Given the description of an element on the screen output the (x, y) to click on. 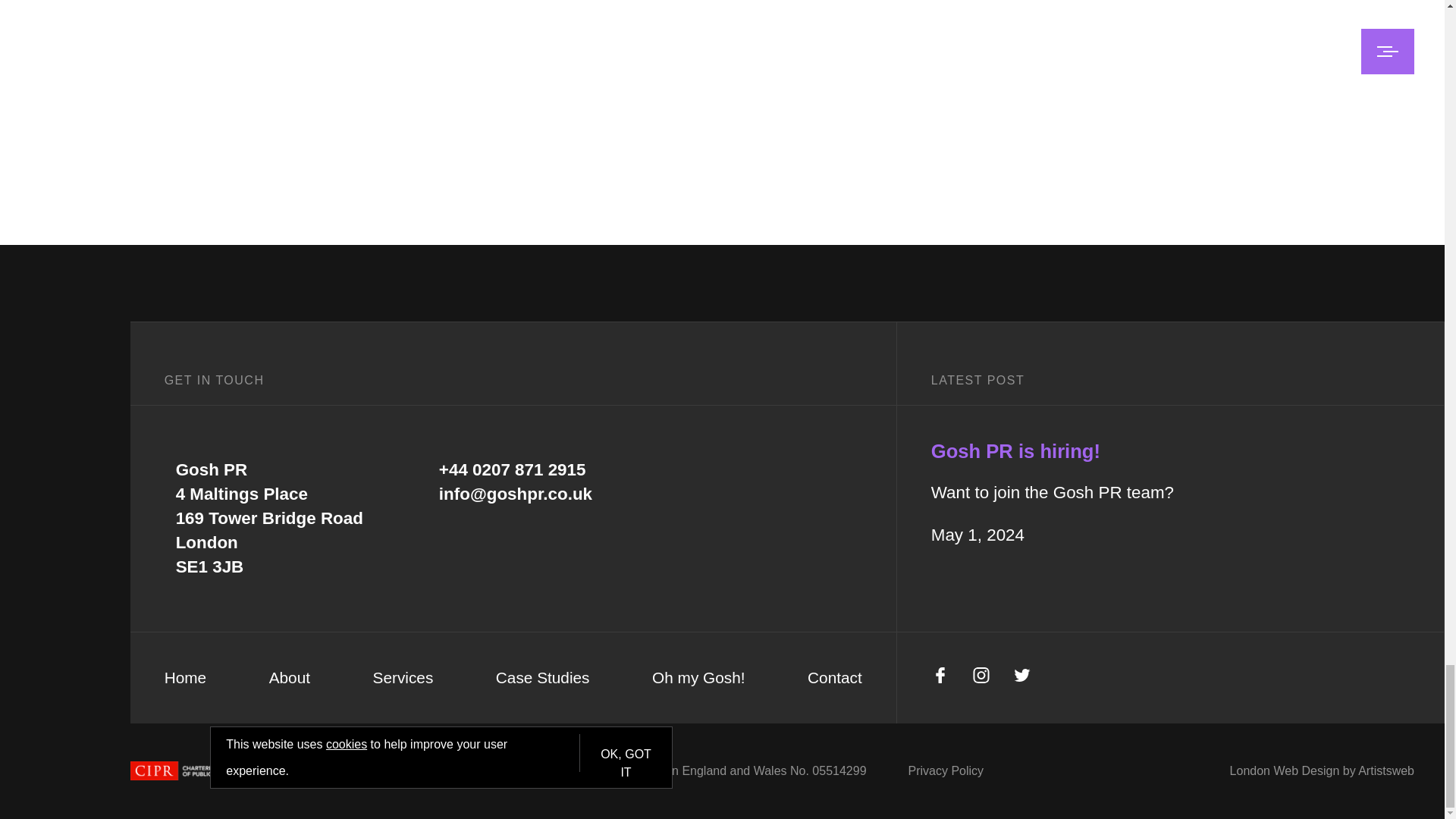
Services (402, 677)
Privacy Policy (946, 770)
About (289, 677)
Case Studies (542, 677)
Gosh PR is hiring! (1015, 450)
Contact (834, 677)
London Web Design (1284, 770)
Home (185, 677)
Oh my Gosh! (698, 677)
Artistsweb (1385, 770)
